Given the description of an element on the screen output the (x, y) to click on. 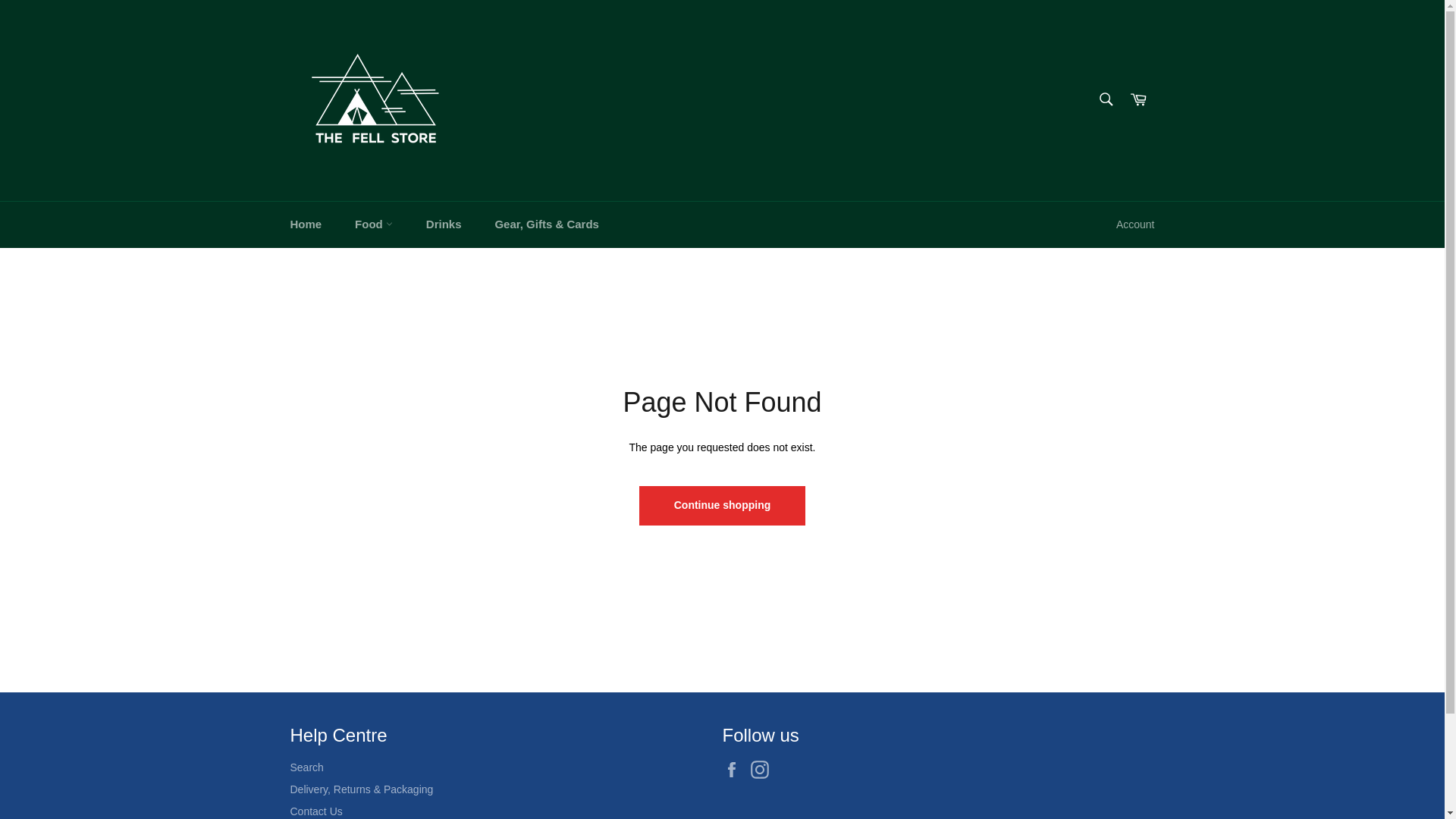
Food (373, 224)
The Fell Store on Facebook (735, 769)
Cart (1138, 100)
Home (305, 224)
Search (1104, 99)
The Fell Store on Instagram (763, 769)
